Given the description of an element on the screen output the (x, y) to click on. 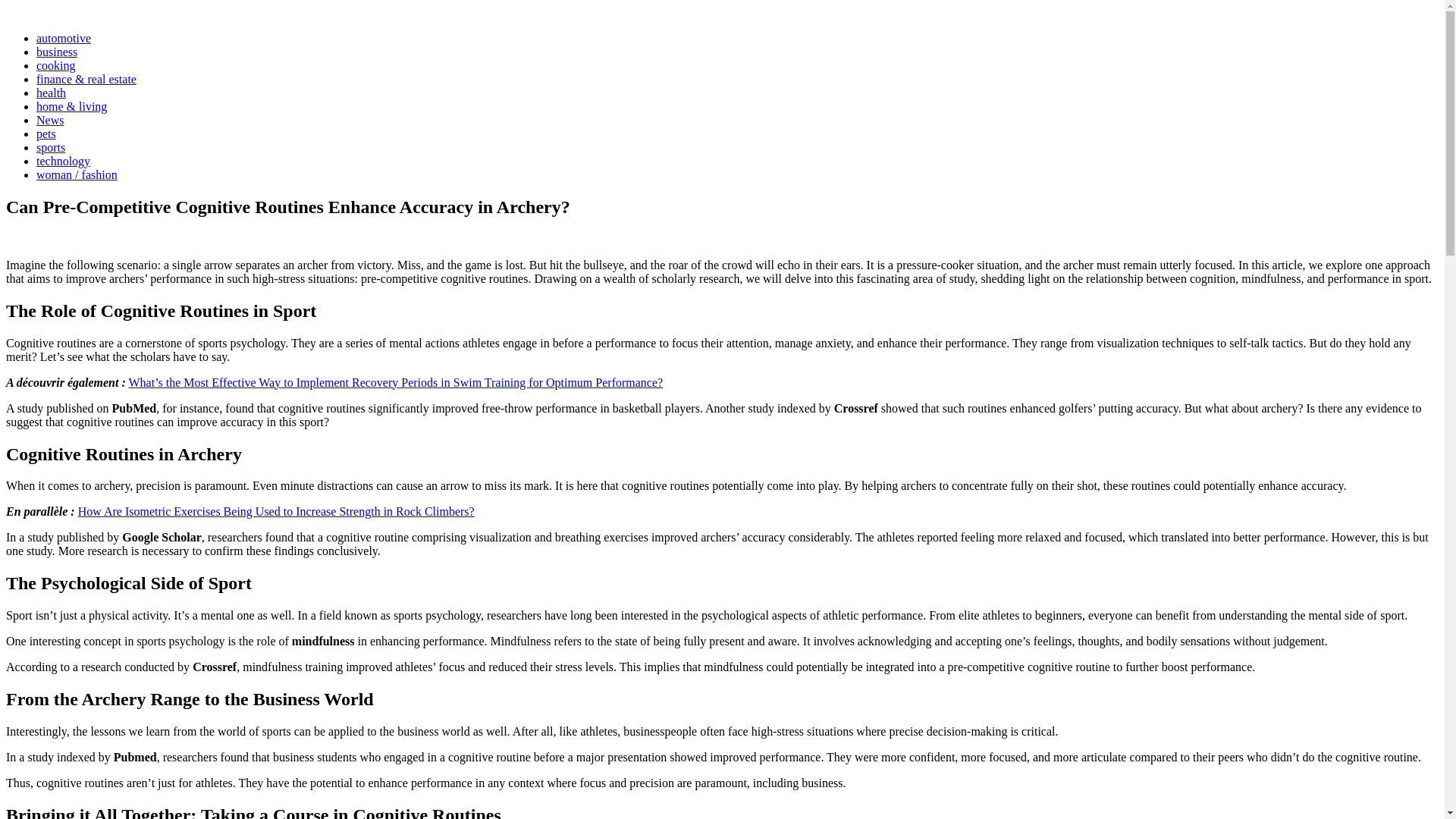
News (50, 119)
cooking (55, 65)
business (56, 51)
sports (50, 146)
automotive (63, 38)
health (50, 92)
pets (46, 133)
technology (63, 160)
